Given the description of an element on the screen output the (x, y) to click on. 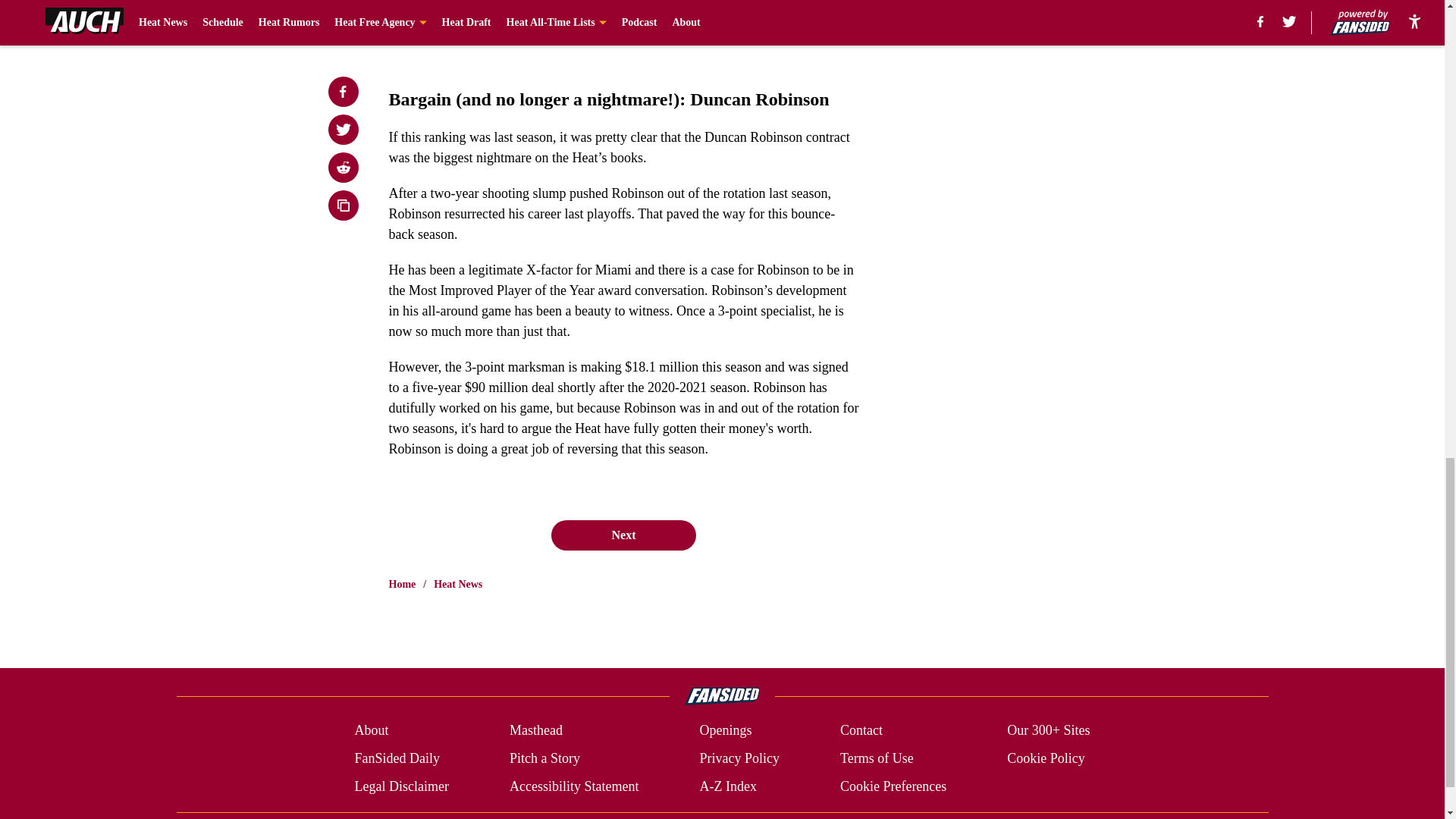
Openings (724, 730)
Masthead (535, 730)
About (370, 730)
Home (401, 584)
Next (622, 535)
Pitch a Story (544, 758)
Contact (861, 730)
FanSided Daily (396, 758)
Heat News (457, 584)
